Given the description of an element on the screen output the (x, y) to click on. 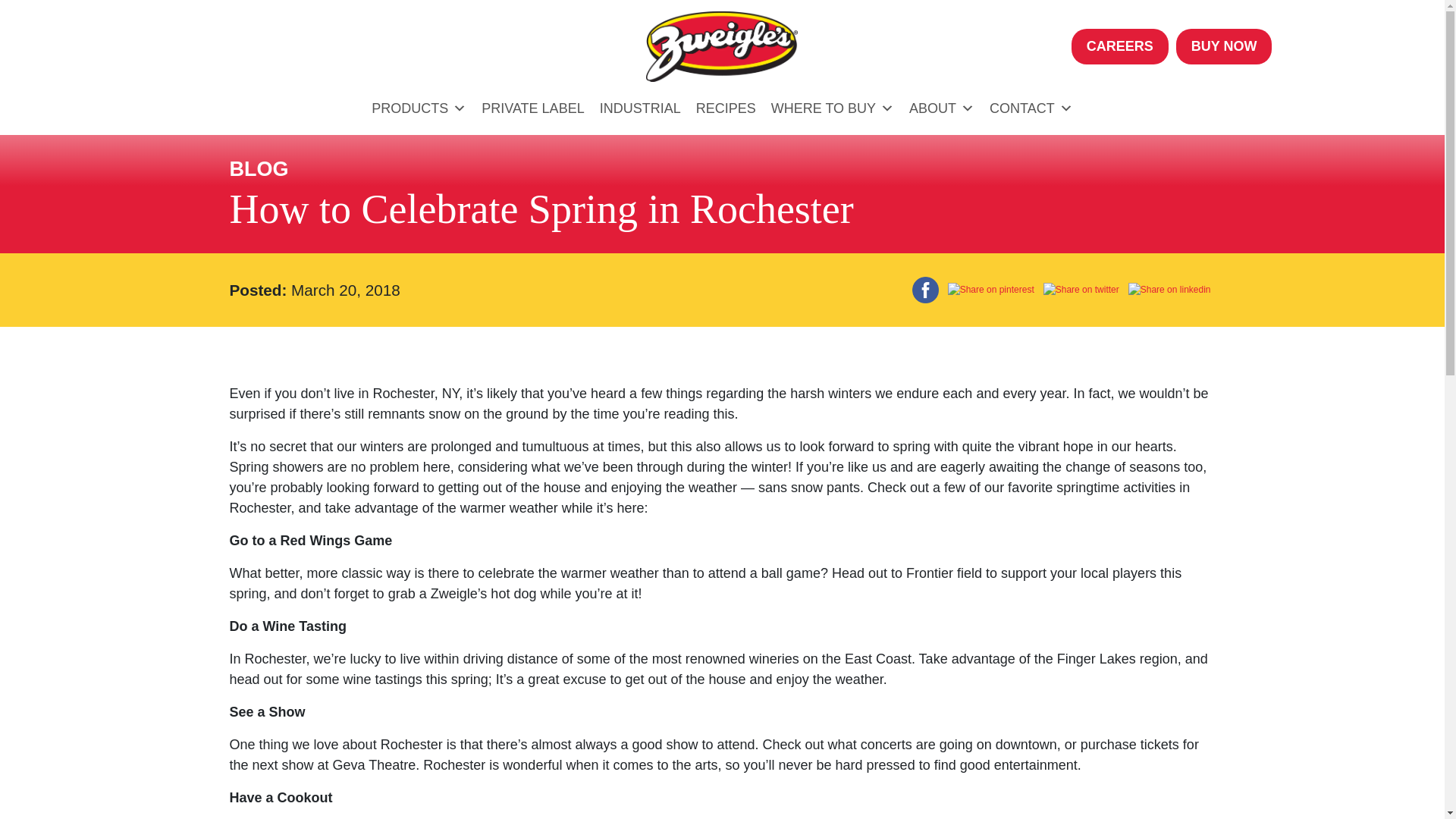
pinterest (991, 289)
PRIVATE LABEL (532, 108)
WHERE TO BUY (831, 108)
CAREERS (1120, 46)
linkedin (1169, 289)
ABOUT (941, 108)
INDUSTRIAL (640, 108)
CONTACT (1030, 108)
PRODUCTS (419, 108)
RECIPES (725, 108)
